Given the description of an element on the screen output the (x, y) to click on. 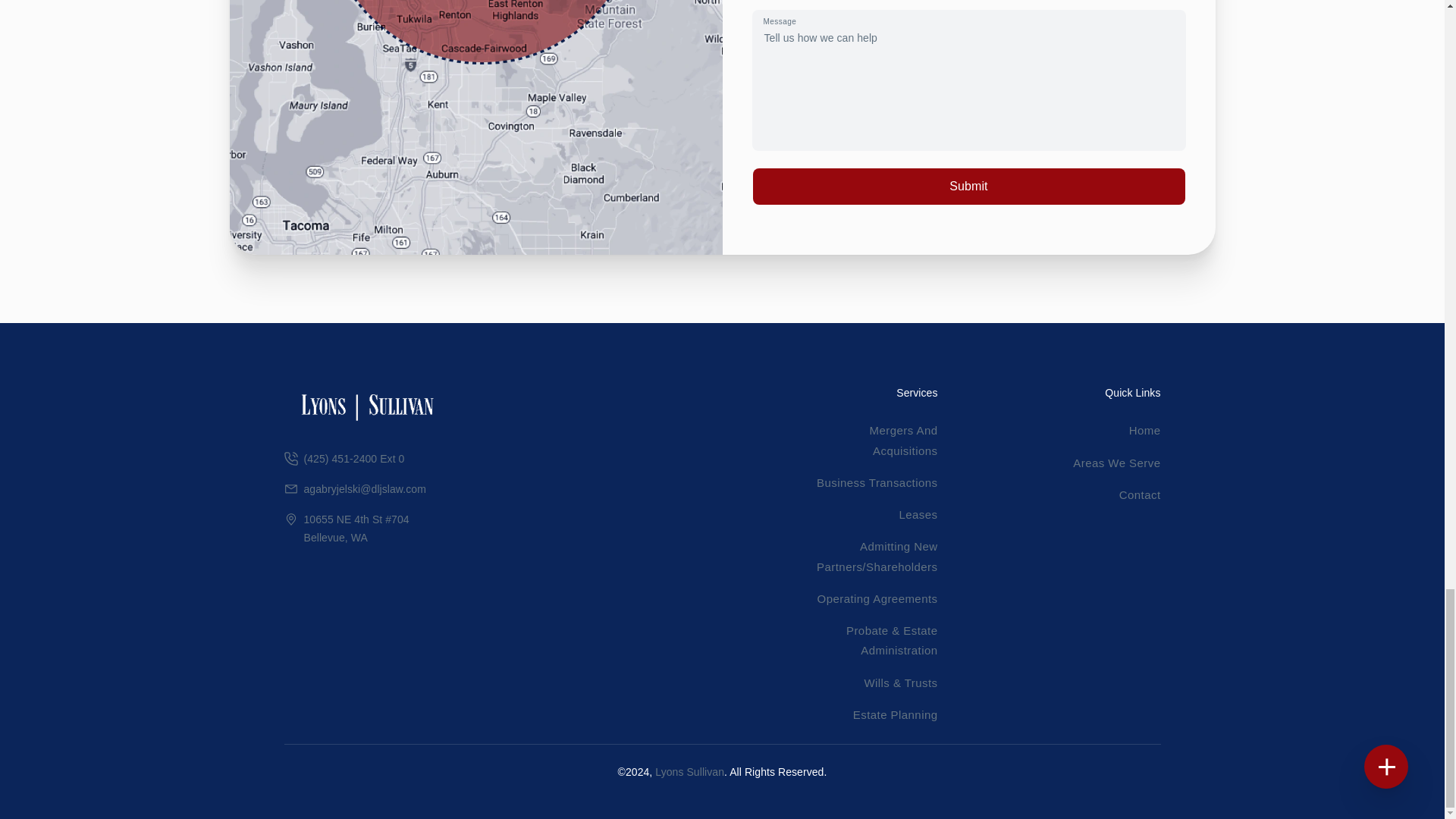
Submit (968, 186)
Submit (968, 186)
